Given the description of an element on the screen output the (x, y) to click on. 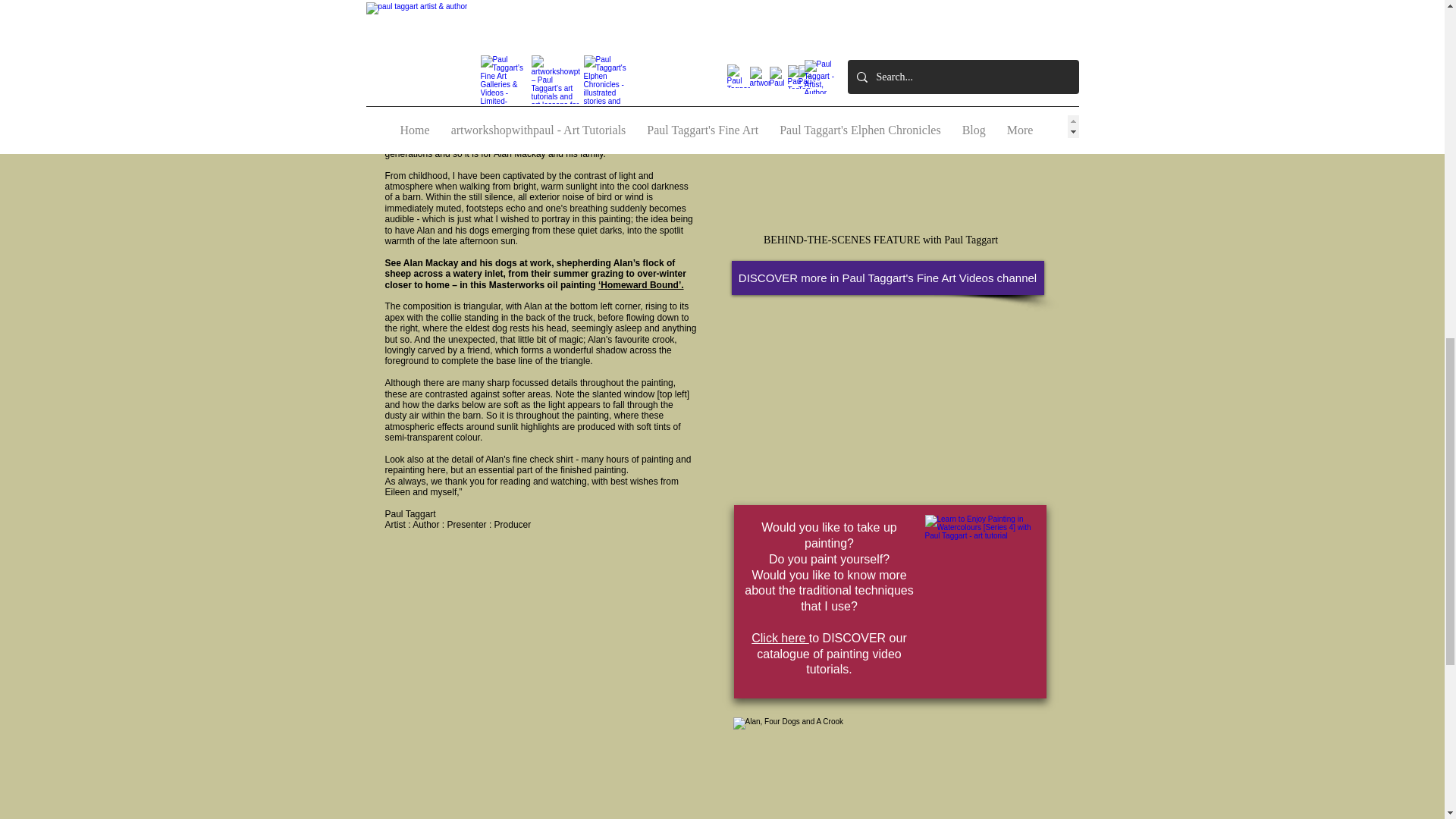
BEHIND-THE-SCENES FEATURE with Paul Taggart (879, 239)
Click to Magnify (887, 768)
